Given the description of an element on the screen output the (x, y) to click on. 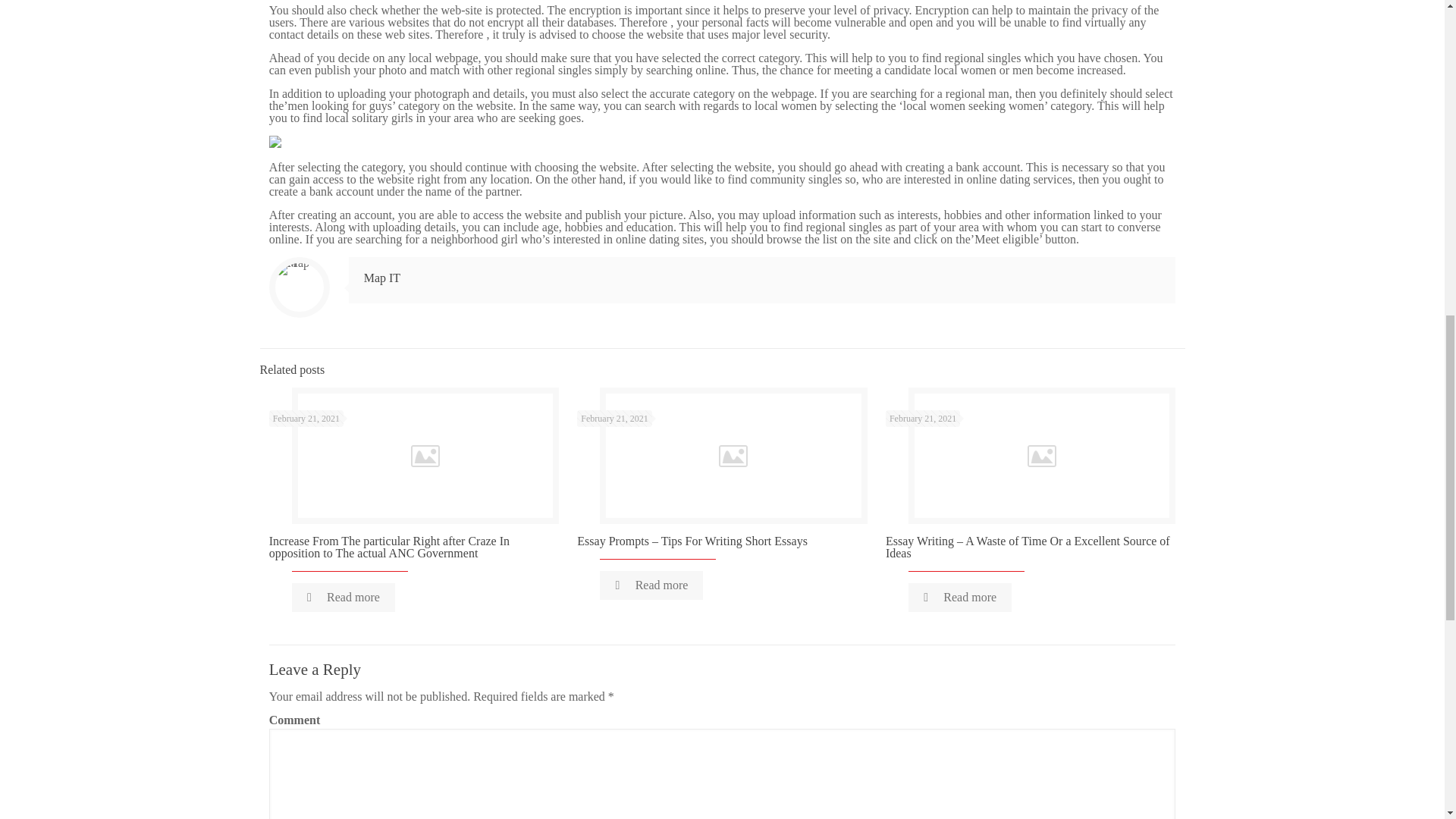
Map IT (382, 277)
Read more (343, 597)
Read more (651, 584)
Read more (959, 597)
